Given the description of an element on the screen output the (x, y) to click on. 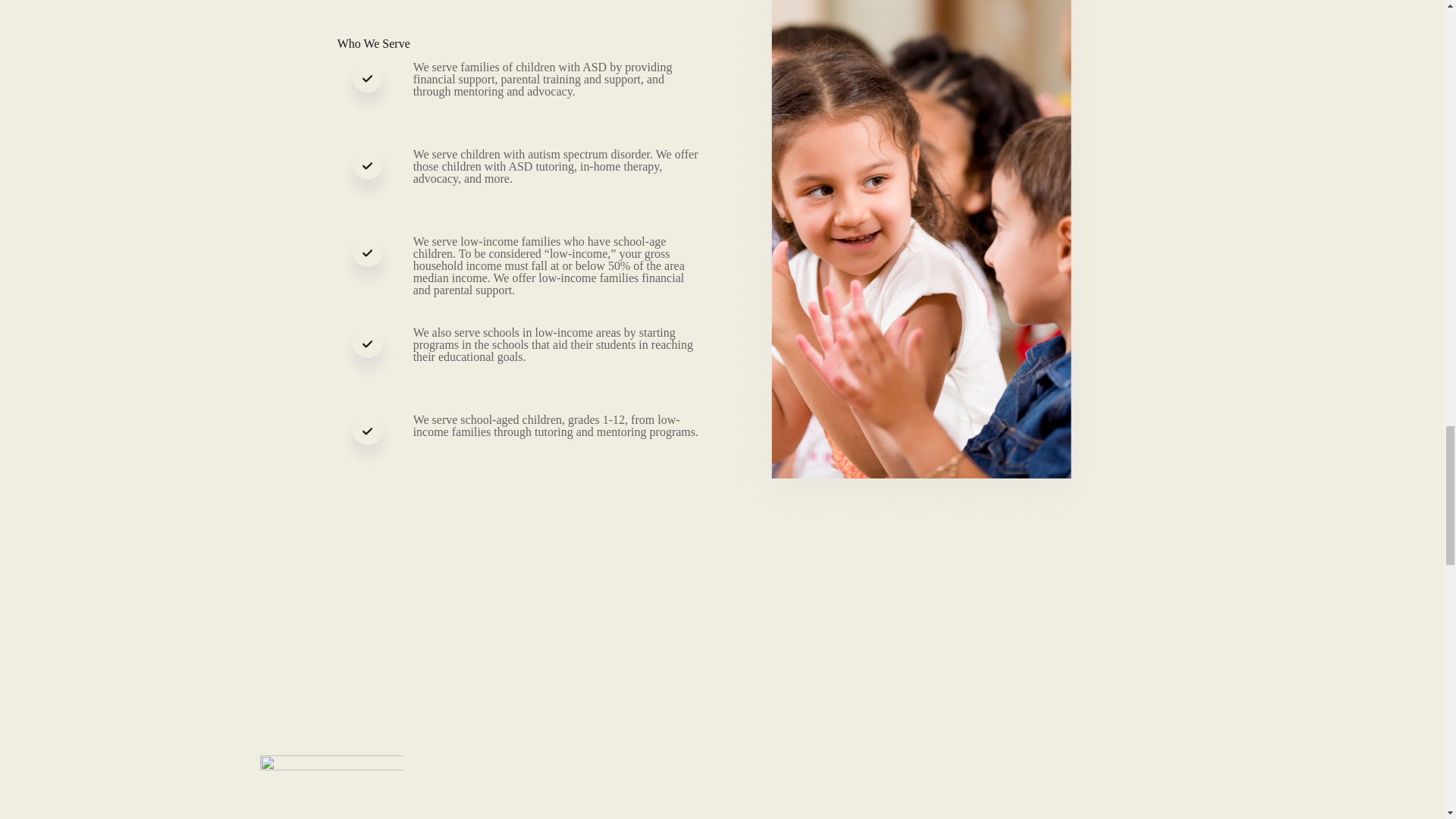
Rectangle-31-1-new (331, 787)
